Given the description of an element on the screen output the (x, y) to click on. 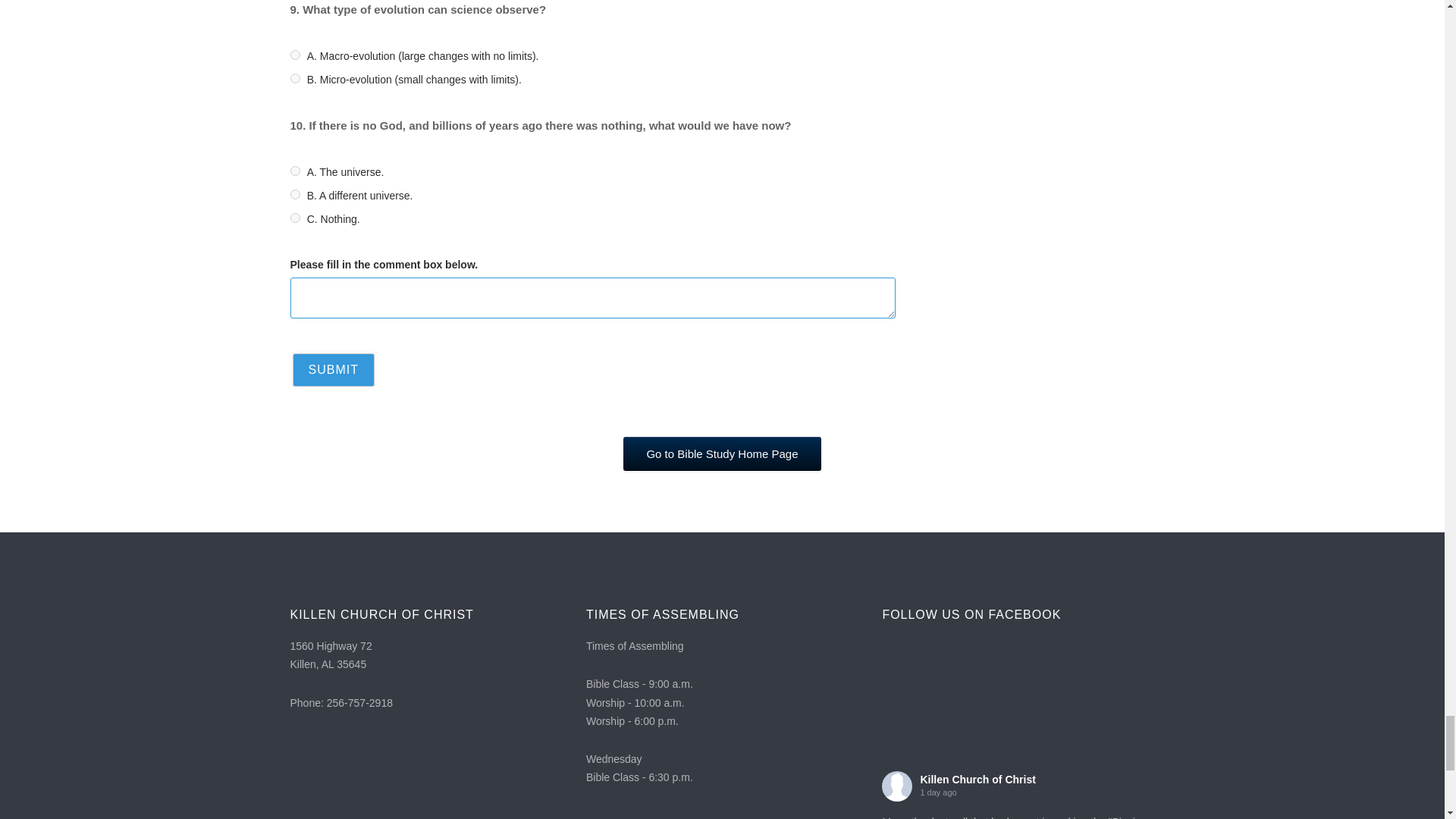
Killen Church of Christ (977, 779)
Submit (333, 369)
Go to Bible Study Home Page (722, 453)
Likebox Iframe (1018, 708)
